Given the description of an element on the screen output the (x, y) to click on. 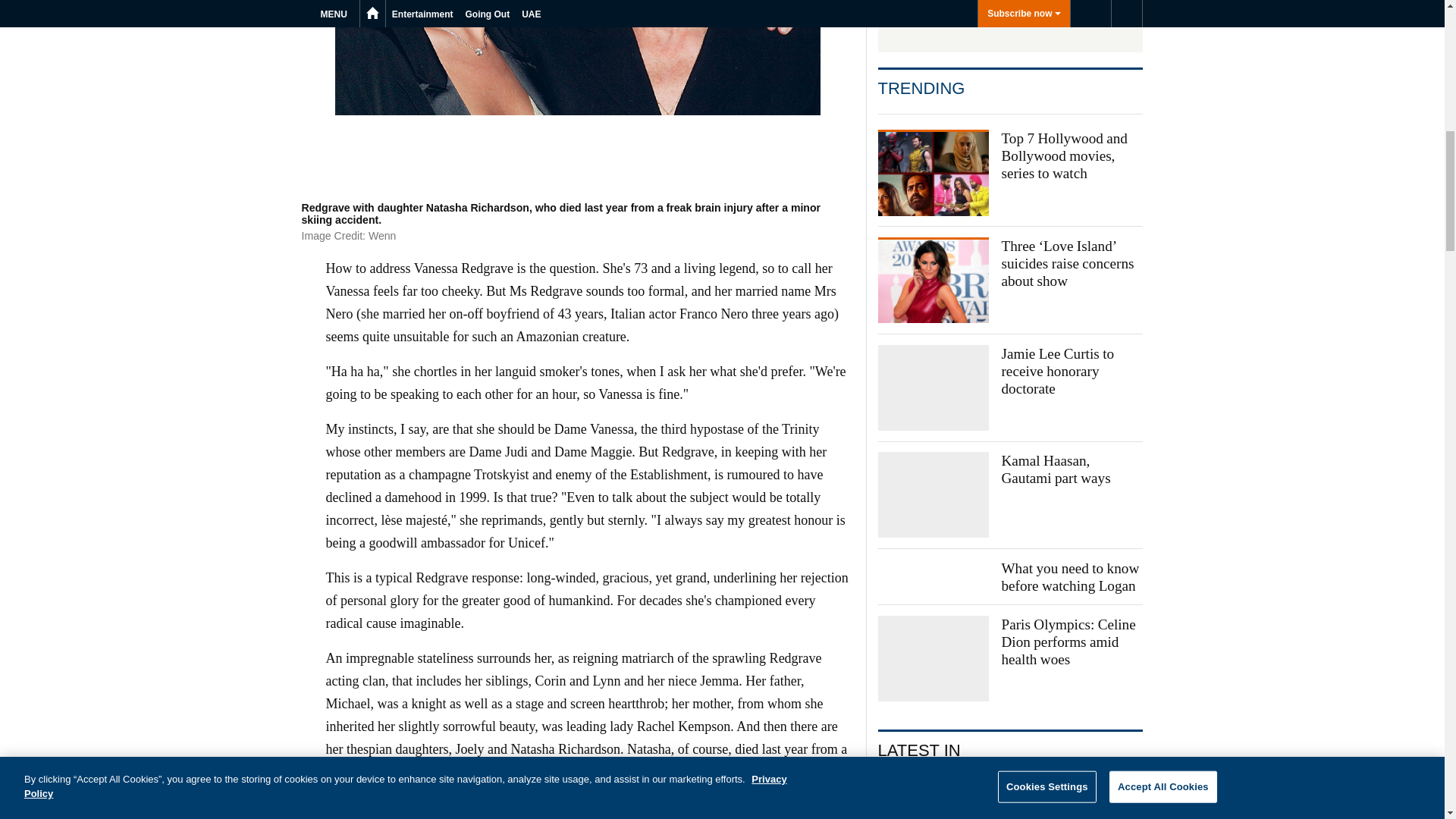
3rd party ad content (1010, 20)
